Given the description of an element on the screen output the (x, y) to click on. 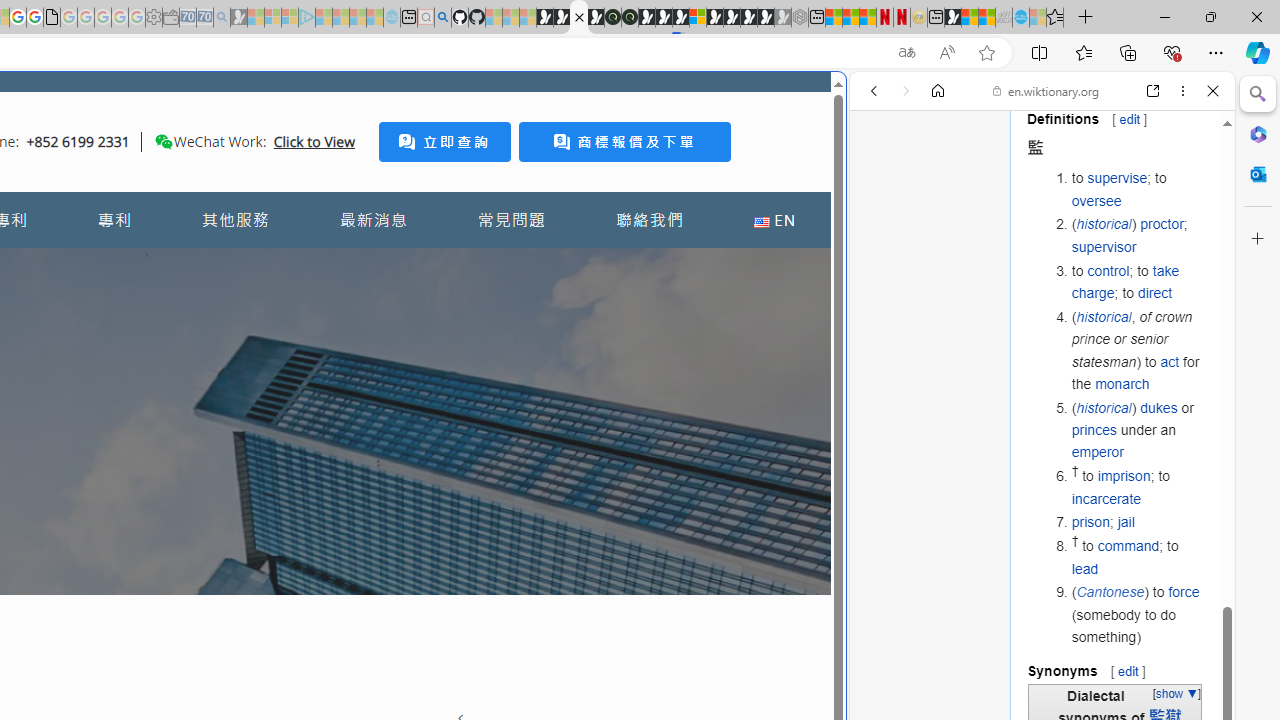
Frequently visited (418, 265)
emperor (1097, 452)
princes (1094, 430)
